Given the description of an element on the screen output the (x, y) to click on. 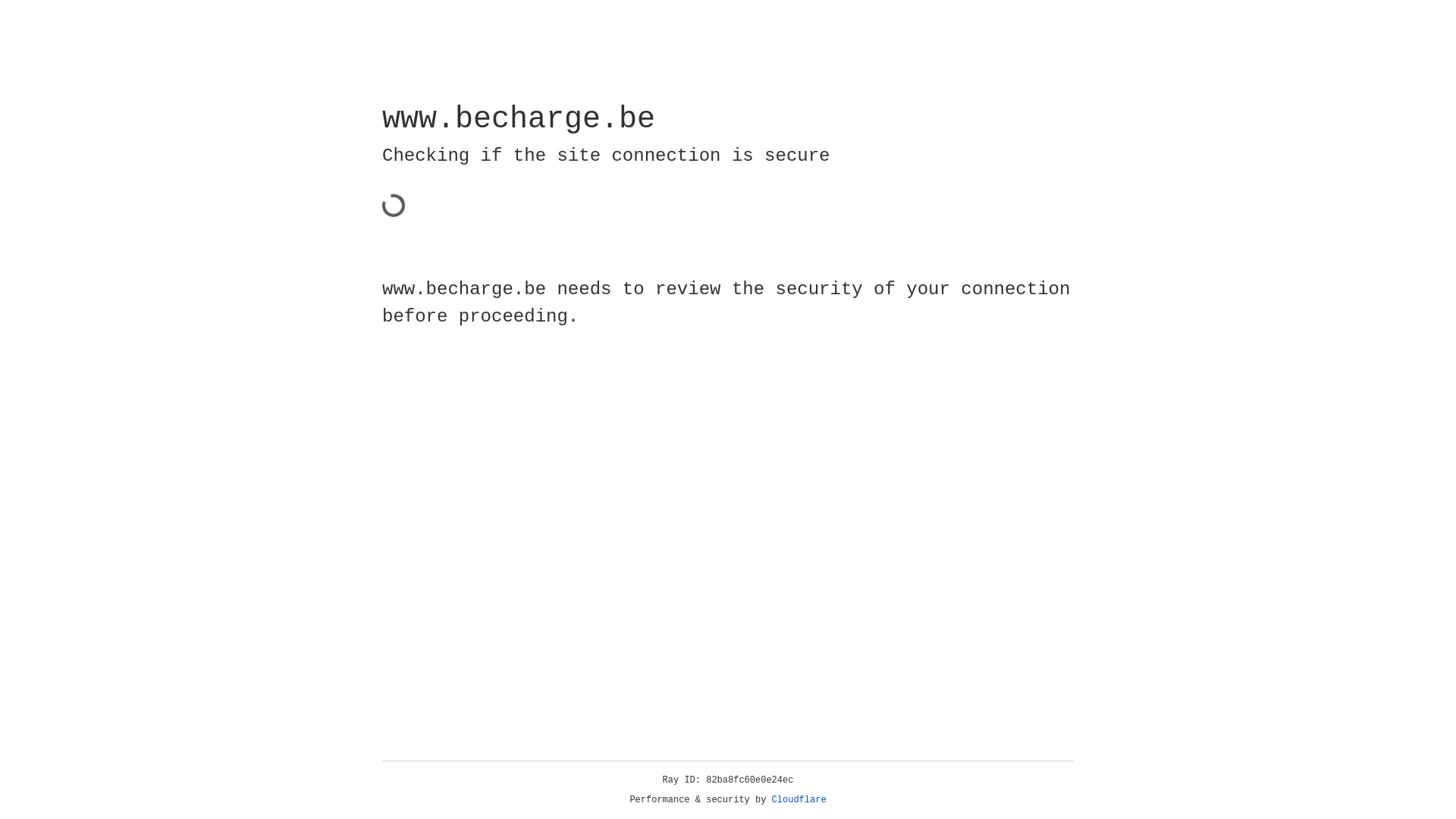
Cloudflare Element type: text (798, 799)
